Given the description of an element on the screen output the (x, y) to click on. 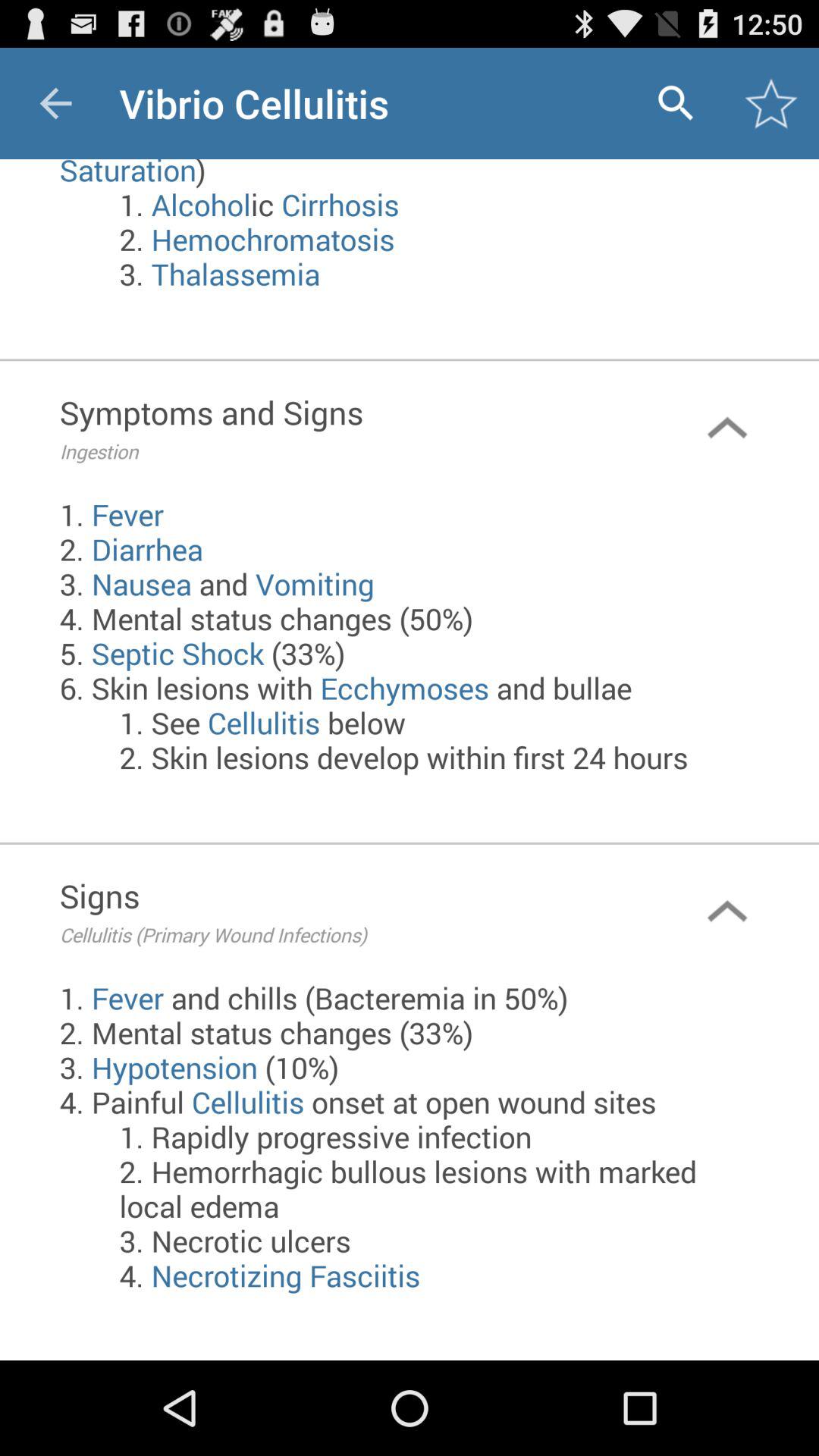
turn off the icon next to vibrio cellulitis icon (55, 103)
